Given the description of an element on the screen output the (x, y) to click on. 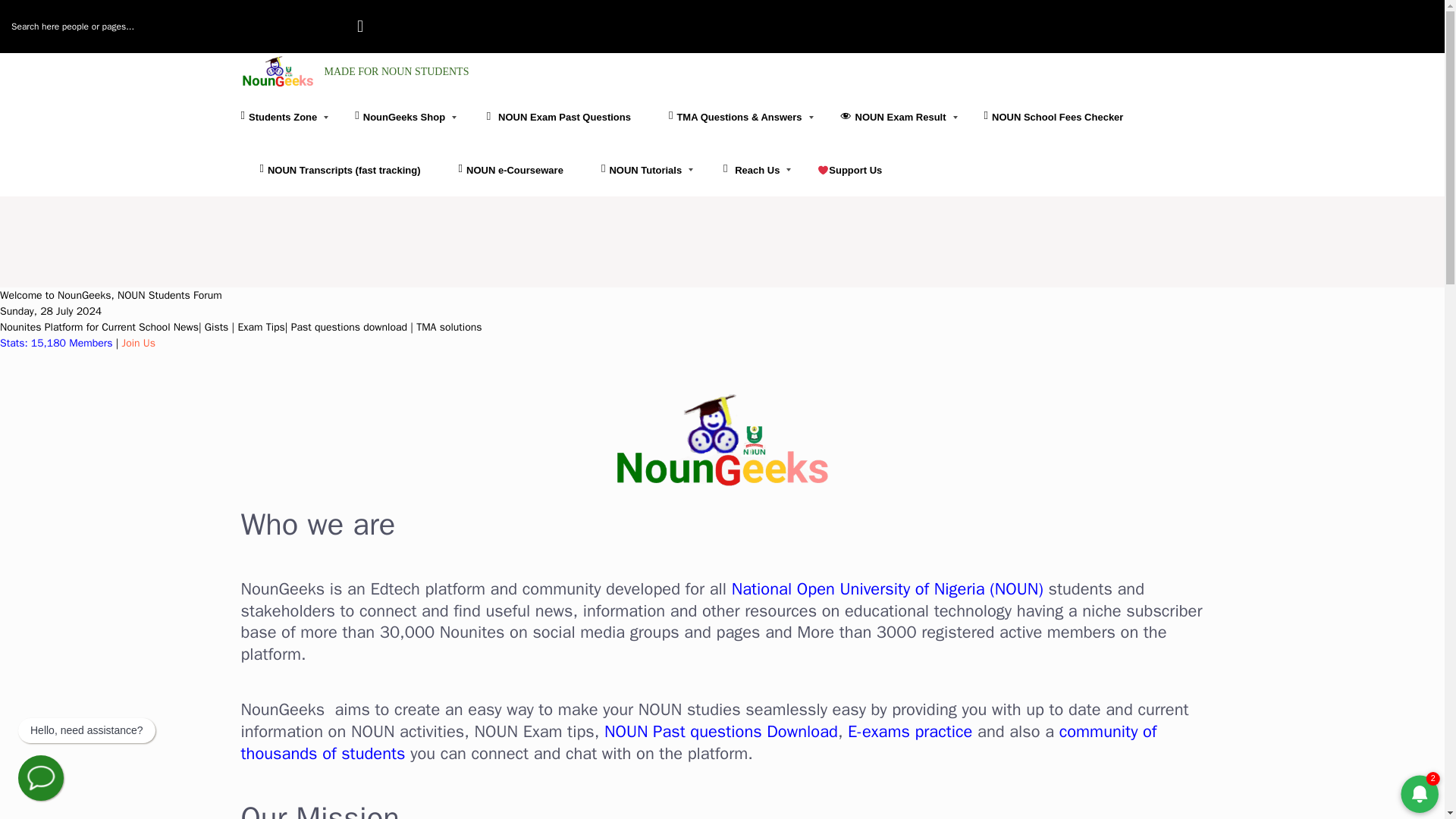
NOUN Exam Result (893, 117)
NOUN Exam Past Questions (556, 117)
Students Zone (288, 117)
NOUN Tutorials (641, 170)
Reach Us (748, 170)
NounGeeks Shop (400, 117)
NOUN e-Courseware (510, 170)
NOUN School Fees Checker (1053, 117)
MADE FOR NOUN STUDENTS (354, 71)
